Given the description of an element on the screen output the (x, y) to click on. 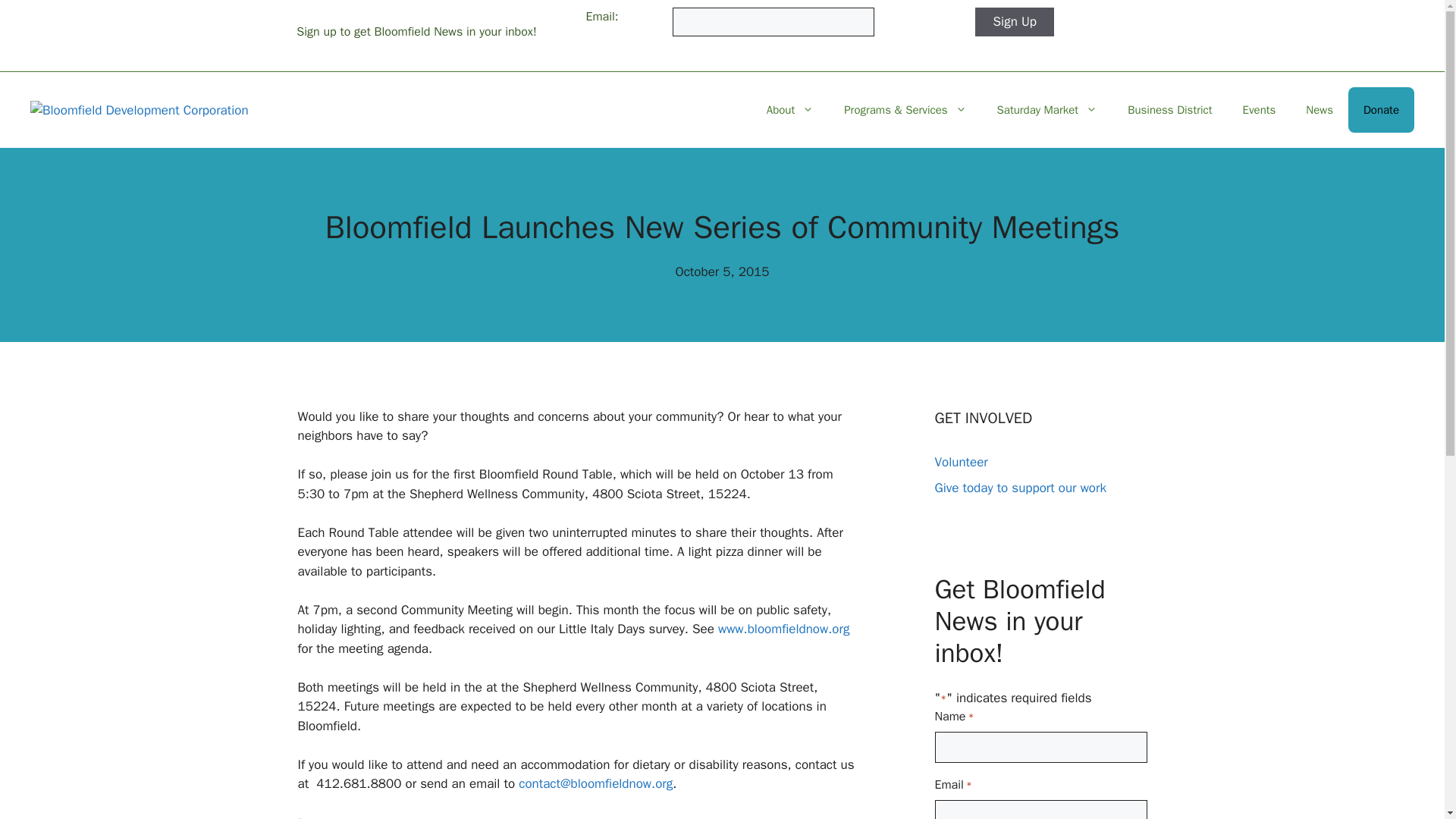
www.bloomfieldnow.org (783, 628)
Volunteer (960, 462)
News (1319, 109)
Donate (1380, 109)
Business District (1169, 109)
Events (1259, 109)
Neighborhood News (362, 817)
Saturday Market (1047, 109)
About (789, 109)
Give today to support our work (1019, 487)
